Given the description of an element on the screen output the (x, y) to click on. 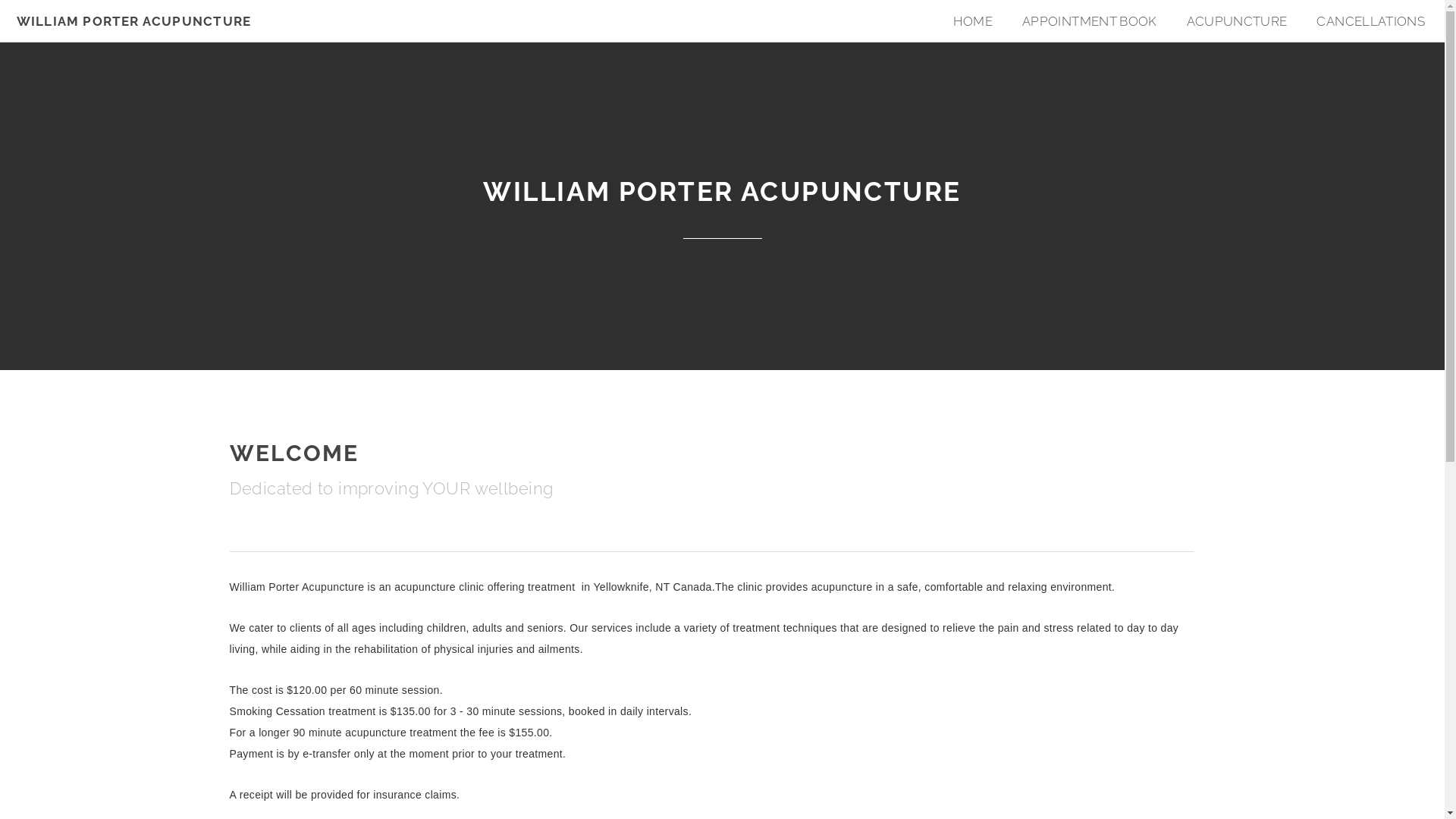
WILLIAM PORTER ACUPUNCTURE Element type: text (133, 20)
CANCELLATIONS Element type: text (1370, 20)
ACUPUNCTURE Element type: text (1236, 20)
APPOINTMENT BOOK Element type: text (1089, 20)
HOME Element type: text (972, 20)
